Given the description of an element on the screen output the (x, y) to click on. 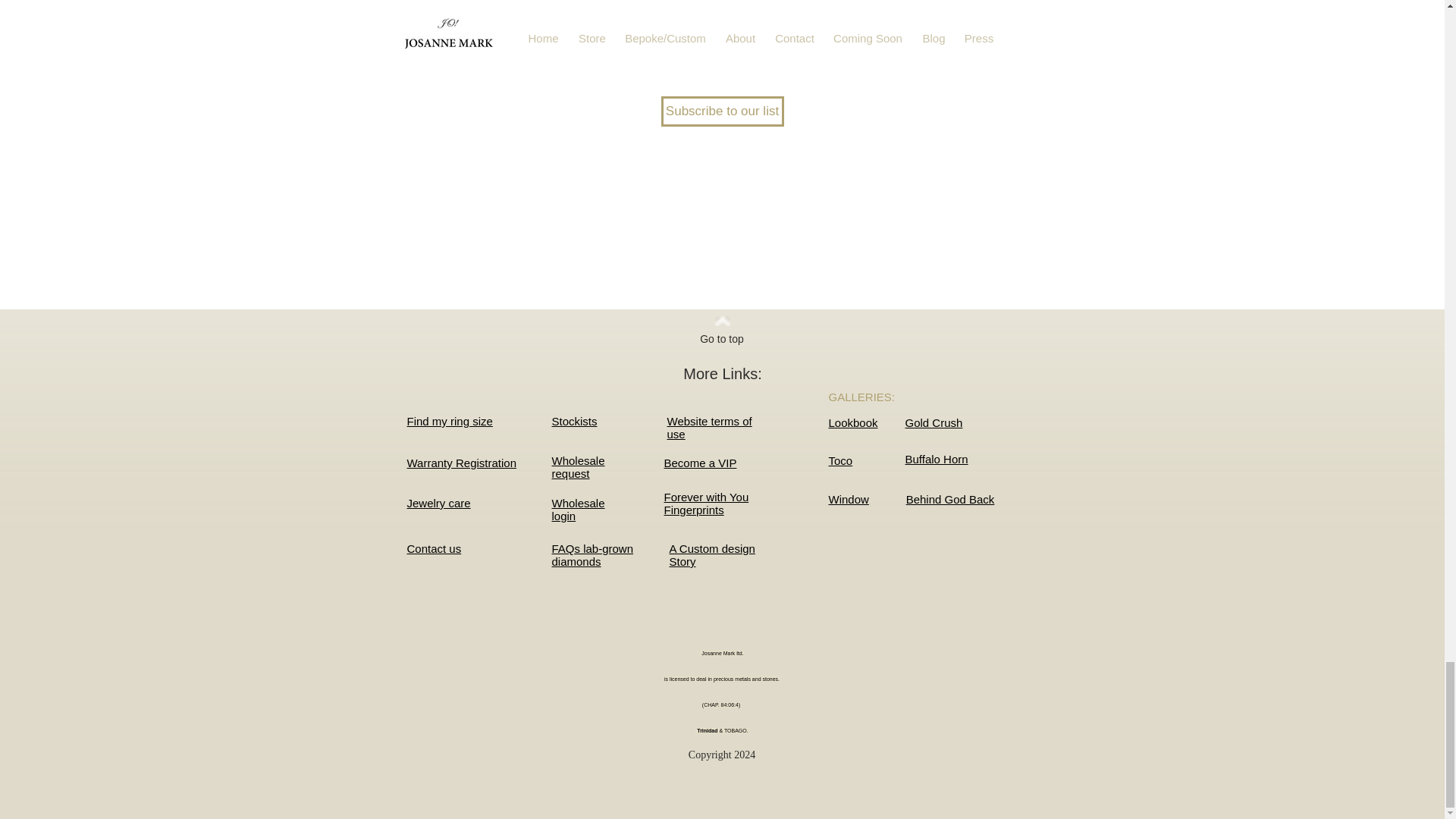
Find my ring size (449, 420)
GALLERIES: (861, 396)
Become a VIP (699, 462)
FAQs lab-grown diamonds (592, 555)
Stockists (573, 420)
Contact us (433, 548)
Warranty Registration (461, 462)
Subscribe to our list (722, 111)
Go to top (721, 339)
Wholesale login (578, 509)
Wholesale request (578, 466)
Forever with You Fingerprints (709, 427)
Jewelry care (706, 503)
